Given the description of an element on the screen output the (x, y) to click on. 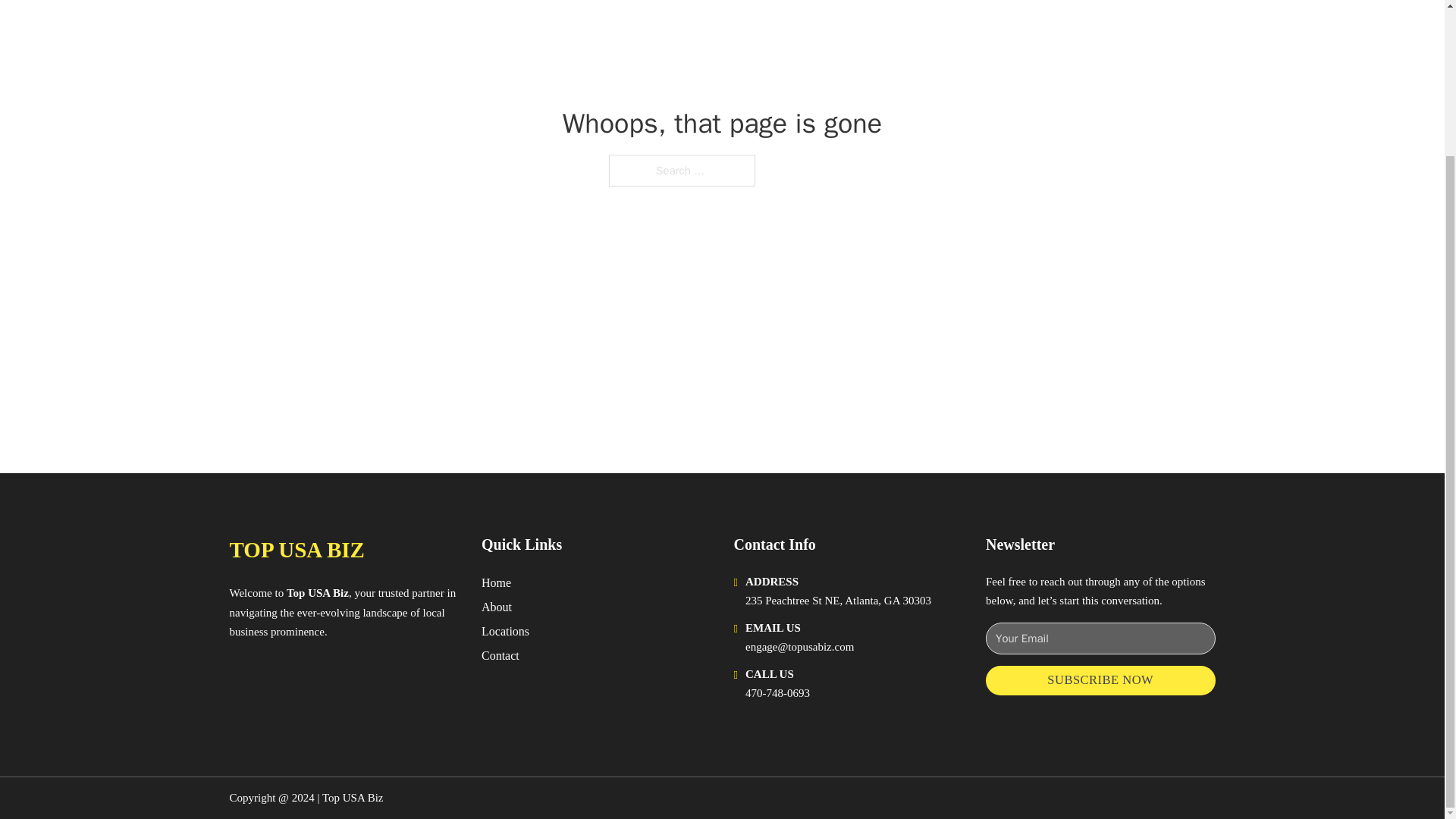
TOP USA BIZ (296, 549)
Locations (505, 630)
SUBSCRIBE NOW (1100, 680)
470-748-0693 (777, 693)
About (496, 607)
Contact (500, 655)
Home (496, 582)
